Given the description of an element on the screen output the (x, y) to click on. 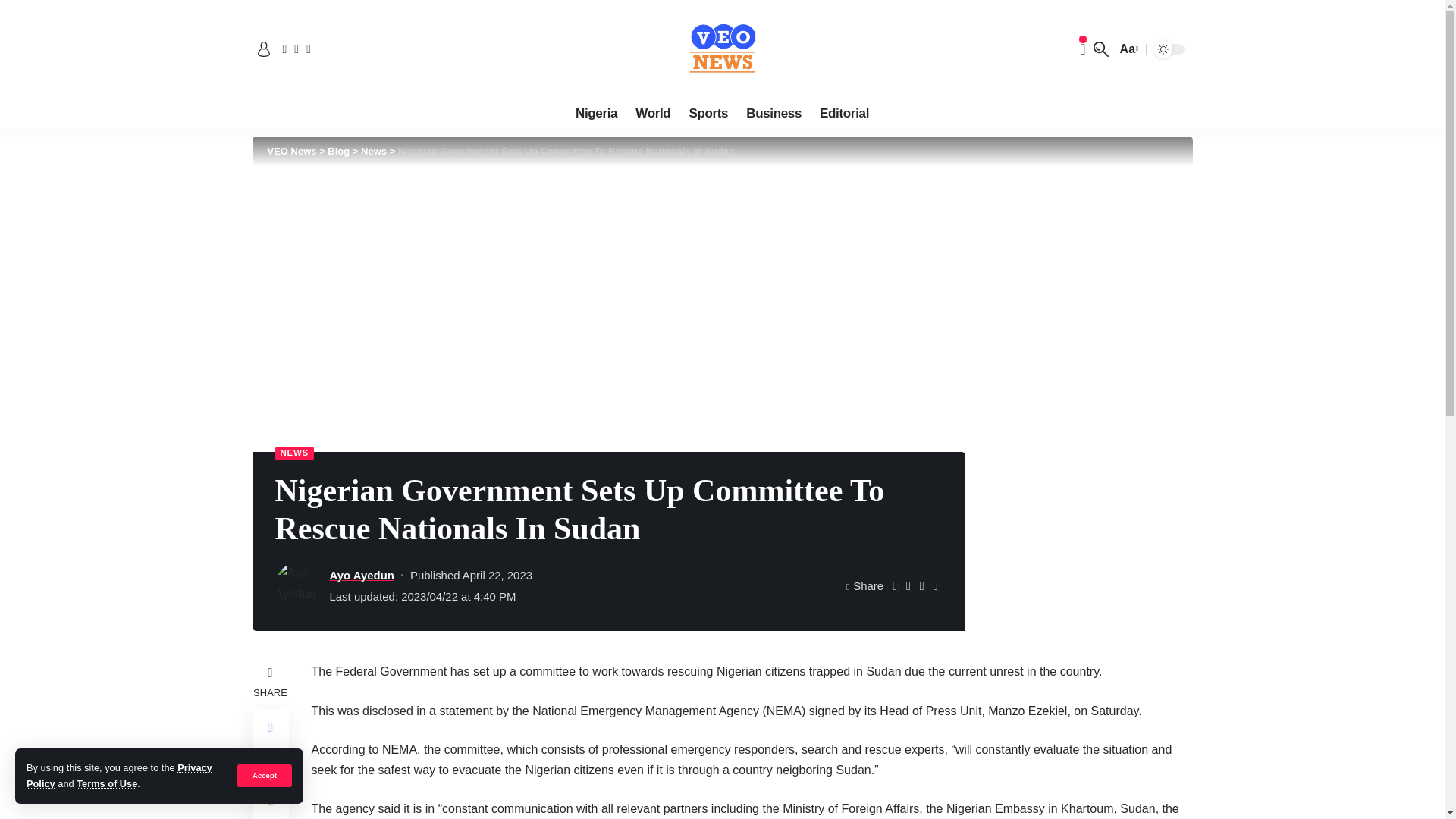
Terms of Use (106, 783)
Nigeria (596, 113)
Aa (1127, 48)
VEO News (722, 48)
Accept (264, 775)
Go to VEO News. (290, 151)
Go to Blog. (338, 151)
Sports (707, 113)
Privacy Policy (119, 775)
Business (773, 113)
